Given the description of an element on the screen output the (x, y) to click on. 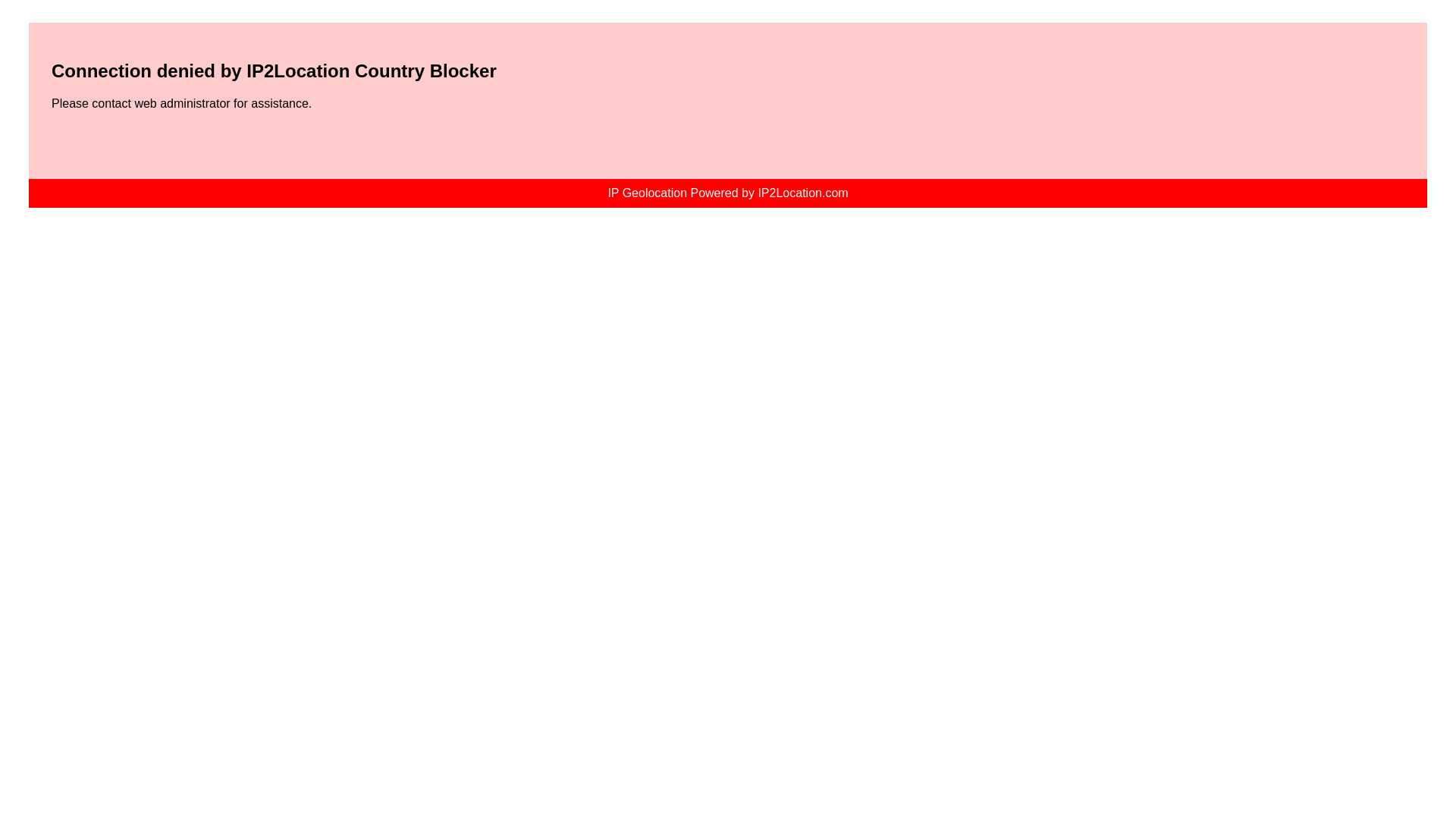
IP Geolocation Powered by IP2Location.com (727, 192)
